Given the description of an element on the screen output the (x, y) to click on. 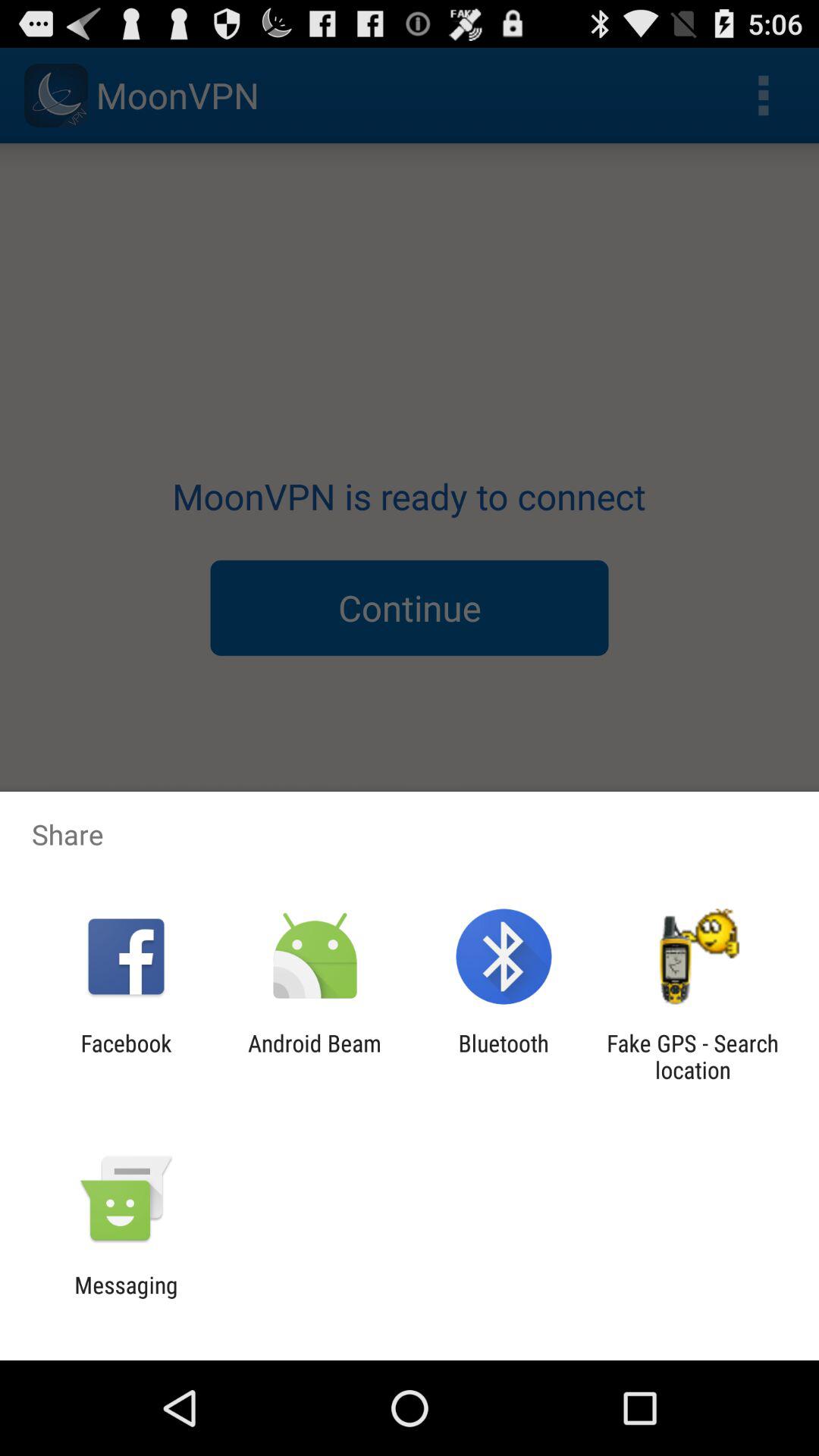
click the app next to the android beam item (503, 1056)
